Given the description of an element on the screen output the (x, y) to click on. 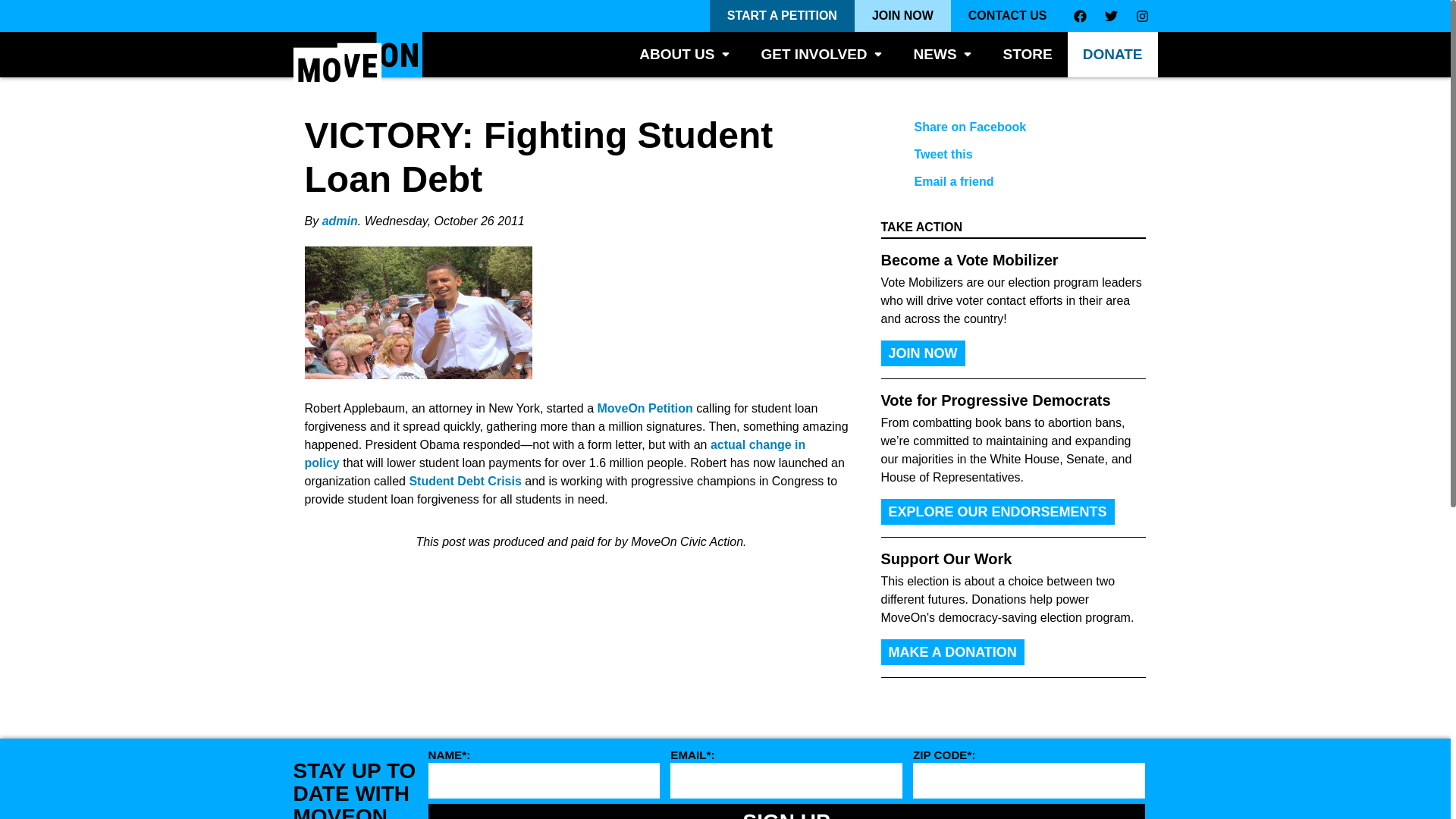
Posts by admin (339, 220)
MAKE A DONATION (952, 652)
admin (339, 220)
Tweet this (1001, 154)
START A PETITION (782, 15)
EXPLORE OUR ENDORSEMENTS (997, 511)
JOIN NOW (902, 15)
CONTACT US (1007, 15)
DONATE (1112, 53)
Email a friend (1001, 181)
actual change in policy (555, 453)
Student Debt Crisis (465, 481)
Share on Facebook (1001, 126)
MoveOn Petition (644, 408)
STORE (1027, 53)
